Given the description of an element on the screen output the (x, y) to click on. 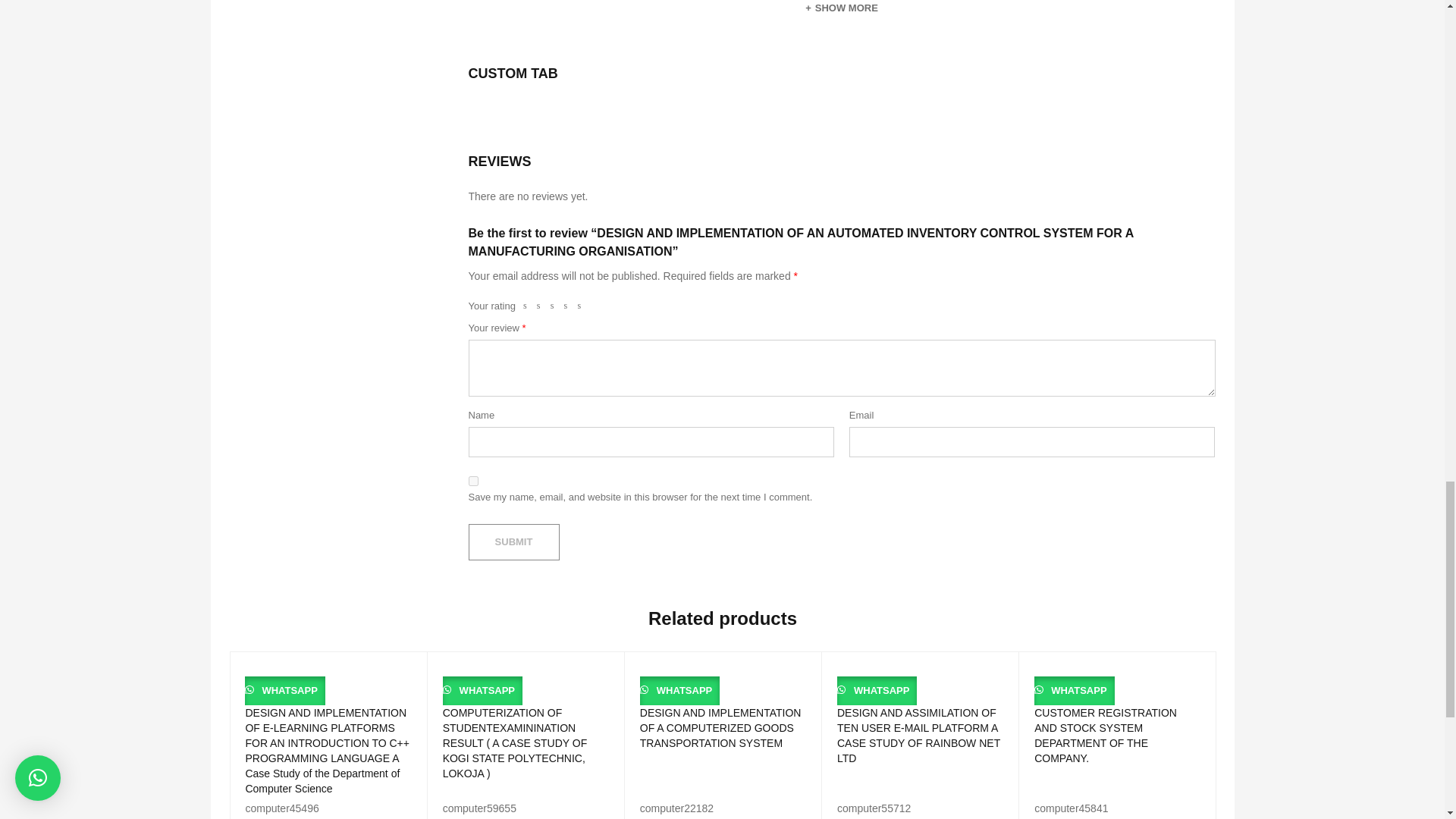
Submit (513, 542)
yes (473, 480)
